Given the description of an element on the screen output the (x, y) to click on. 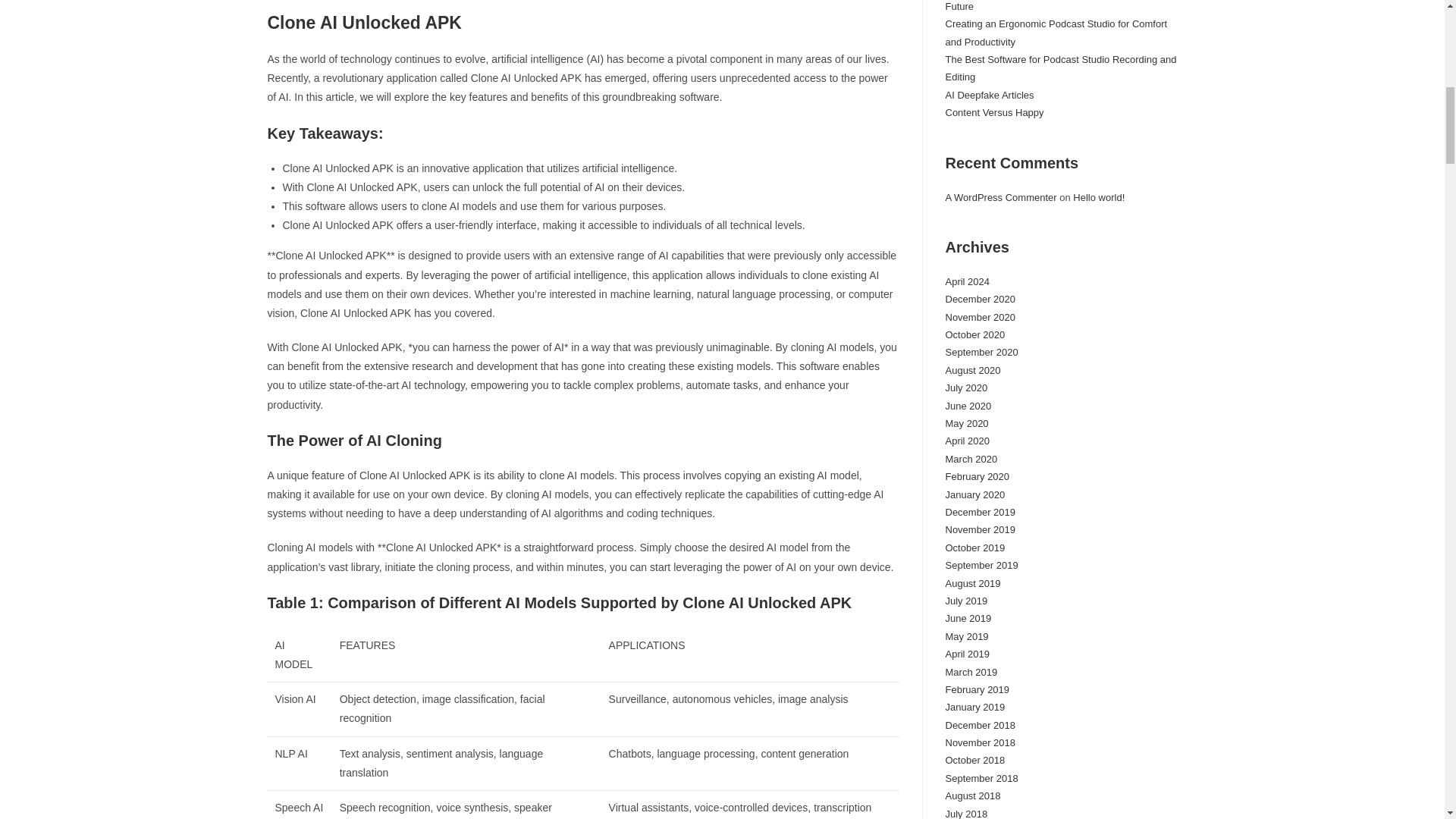
September 2020 (980, 351)
AI Deepfake Articles (988, 94)
June 2020 (967, 405)
December 2019 (979, 511)
The Best Software for Podcast Studio Recording and Editing (1060, 68)
August 2020 (972, 369)
The Evolution of Podcast Studios: Past, Present, and Future (1060, 5)
Content Versus Happy (993, 112)
May 2020 (966, 423)
April 2024 (967, 281)
December 2020 (979, 298)
April 2020 (967, 440)
February 2020 (976, 476)
October 2020 (974, 334)
